Given the description of an element on the screen output the (x, y) to click on. 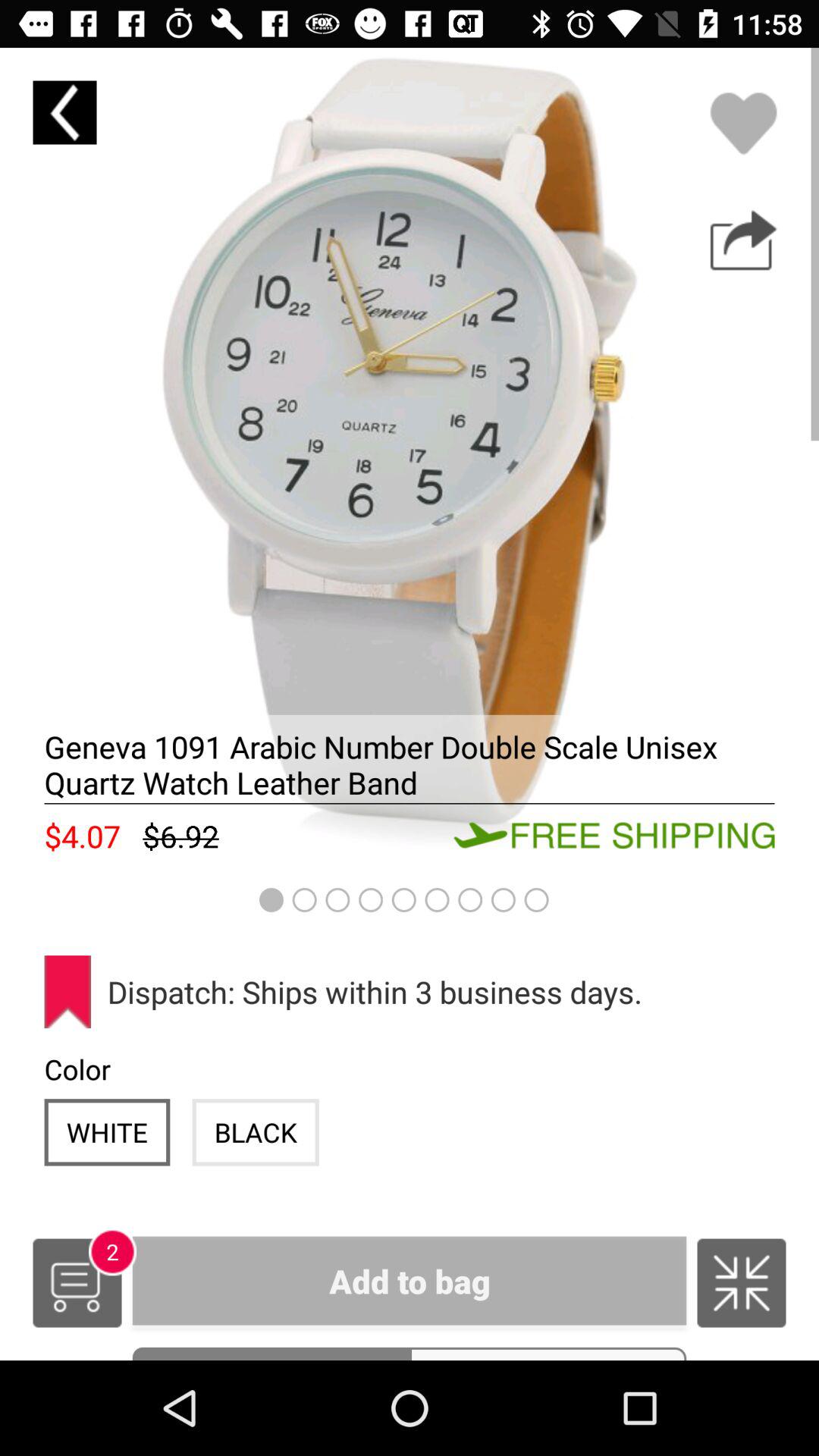
product image of a watch (409, 456)
